Given the description of an element on the screen output the (x, y) to click on. 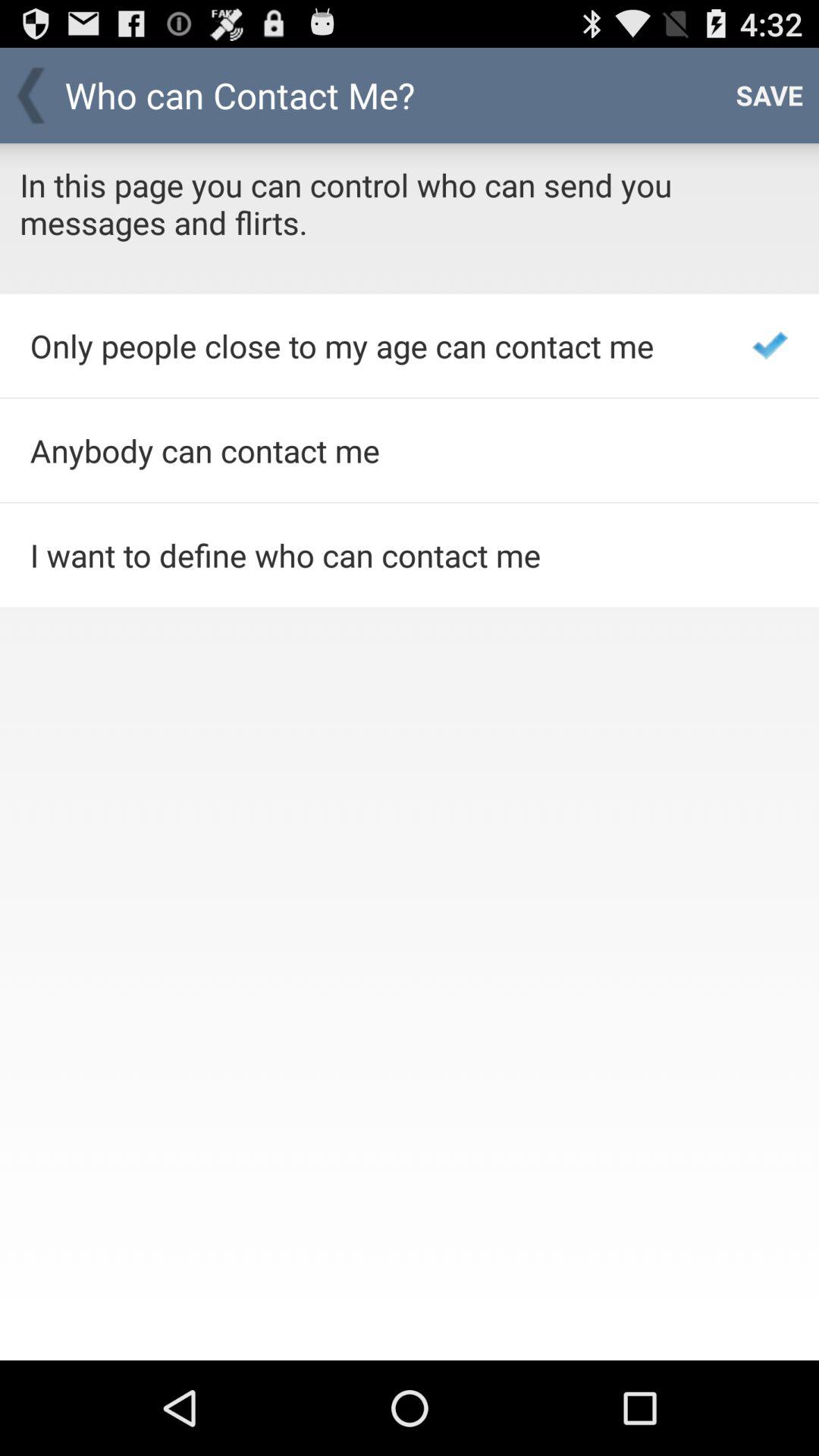
flip to the i want to item (371, 554)
